Given the description of an element on the screen output the (x, y) to click on. 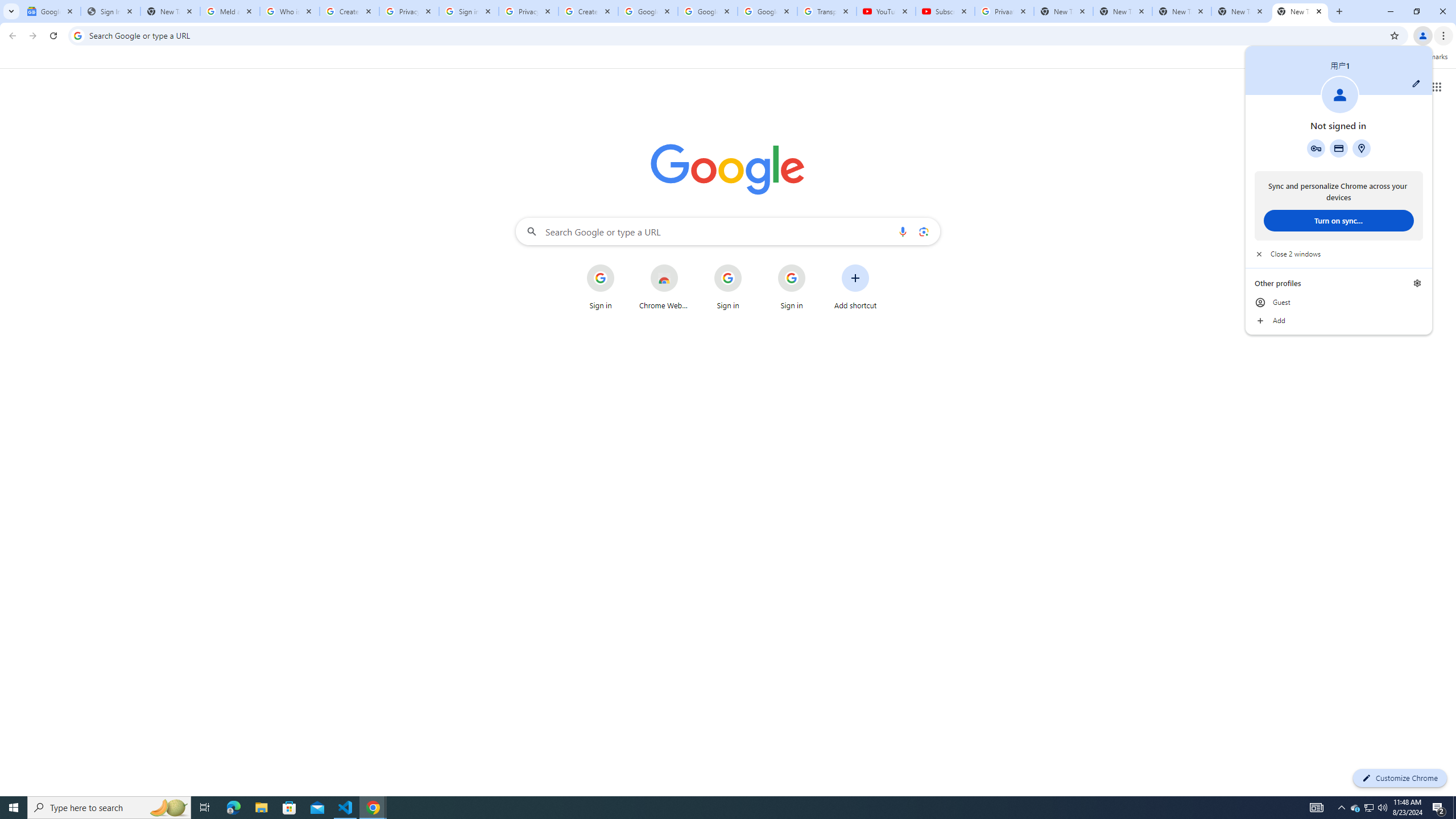
New Tab (1300, 11)
AutomationID: 4105 (1316, 807)
Add (1338, 321)
Google Chrome - 2 running windows (373, 807)
User Promoted Notification Area (1368, 807)
Notification Chevron (1341, 807)
Start (13, 807)
Create your Google Account (588, 11)
Manage profiles (1417, 283)
Running applications (717, 807)
Google Password Manager (1315, 148)
Show desktop (1454, 807)
